Given the description of an element on the screen output the (x, y) to click on. 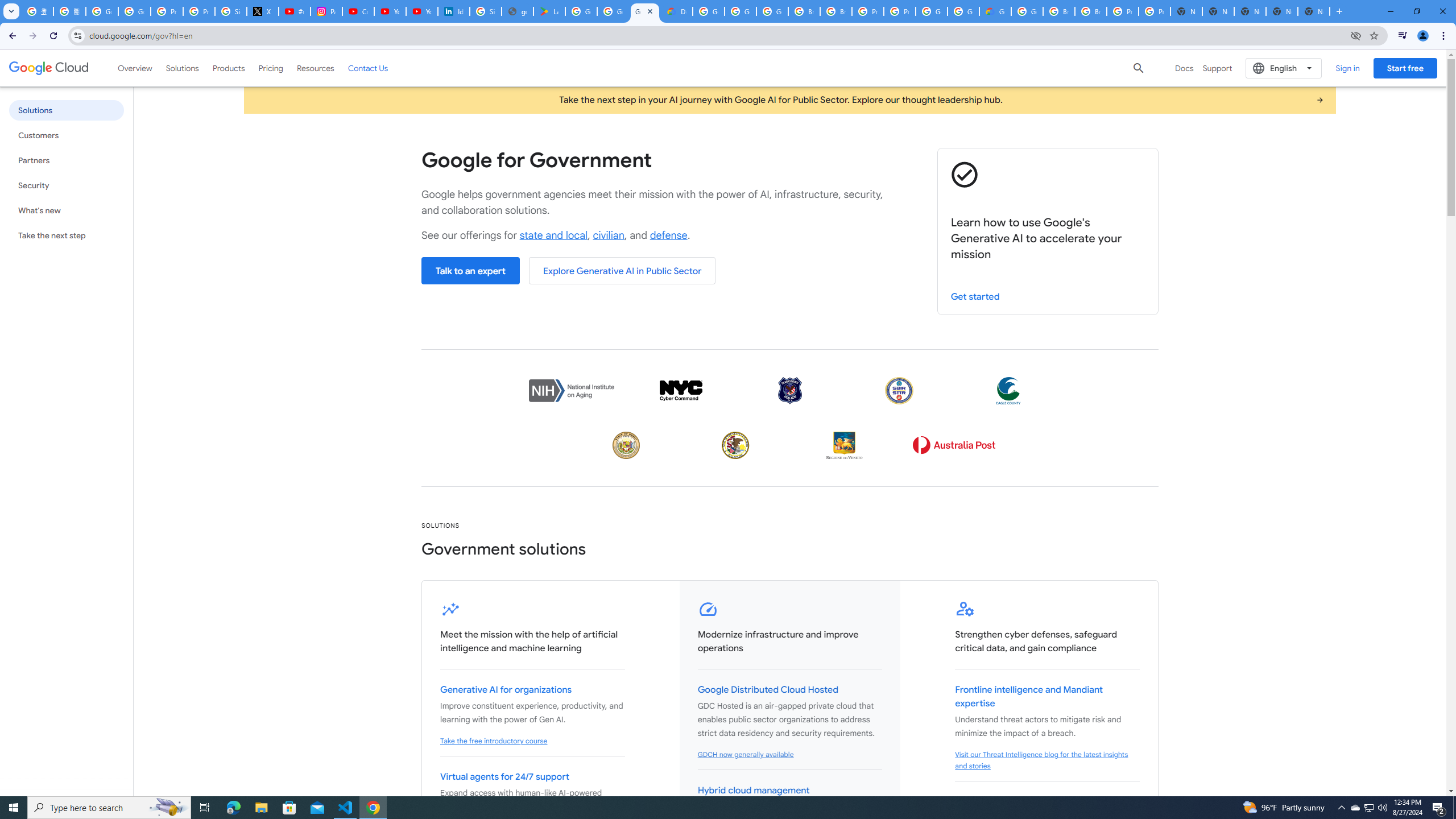
Products (228, 67)
Docs (1183, 67)
google_privacy_policy_en.pdf (517, 11)
Solutions (181, 67)
Australia Post (953, 445)
Last Shelter: Survival - Apps on Google Play (549, 11)
X (262, 11)
YouTube Culture & Trends - YouTube Top 10, 2021 (421, 11)
